Given the description of an element on the screen output the (x, y) to click on. 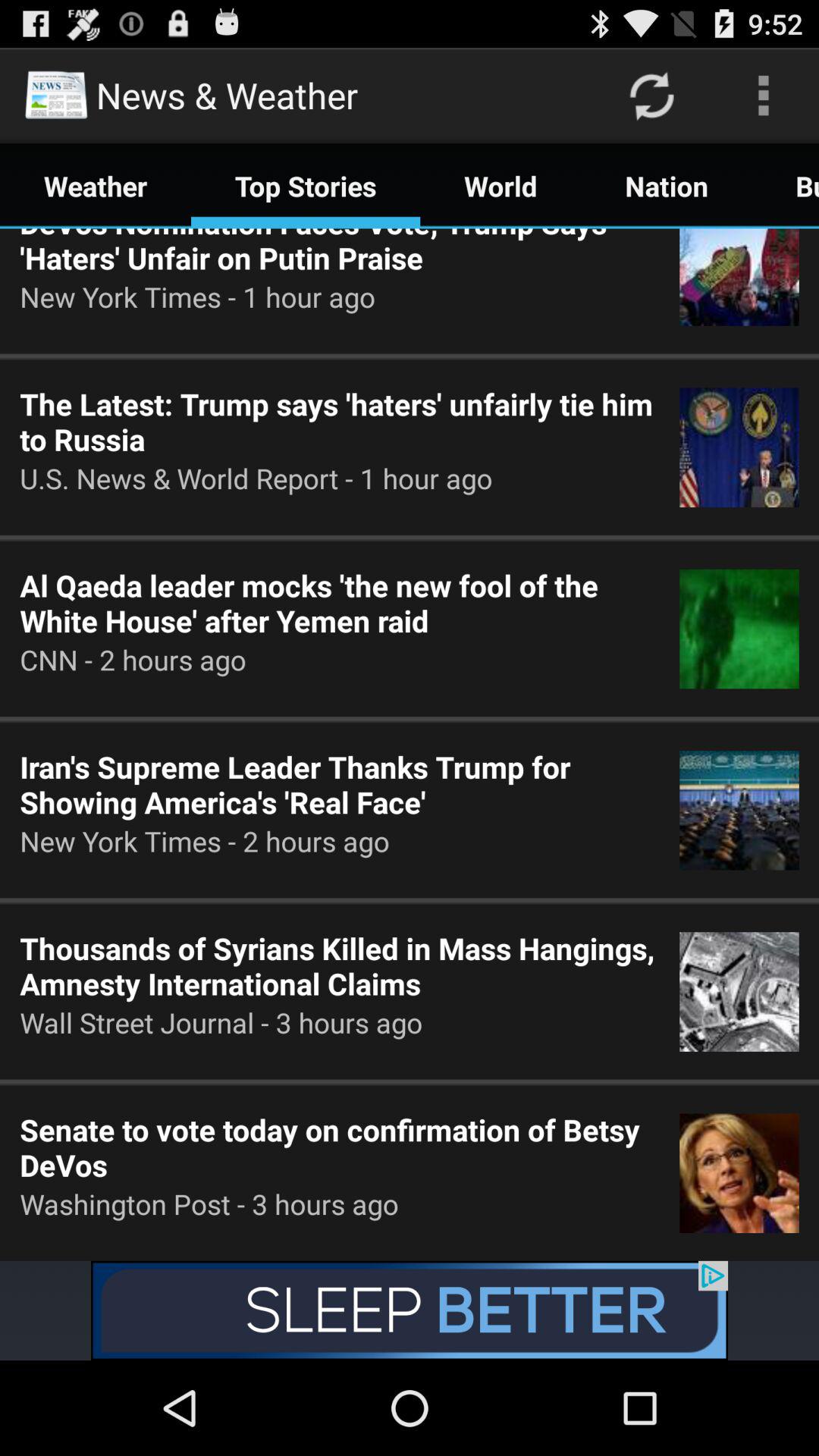
open an advertisement (409, 1310)
